Given the description of an element on the screen output the (x, y) to click on. 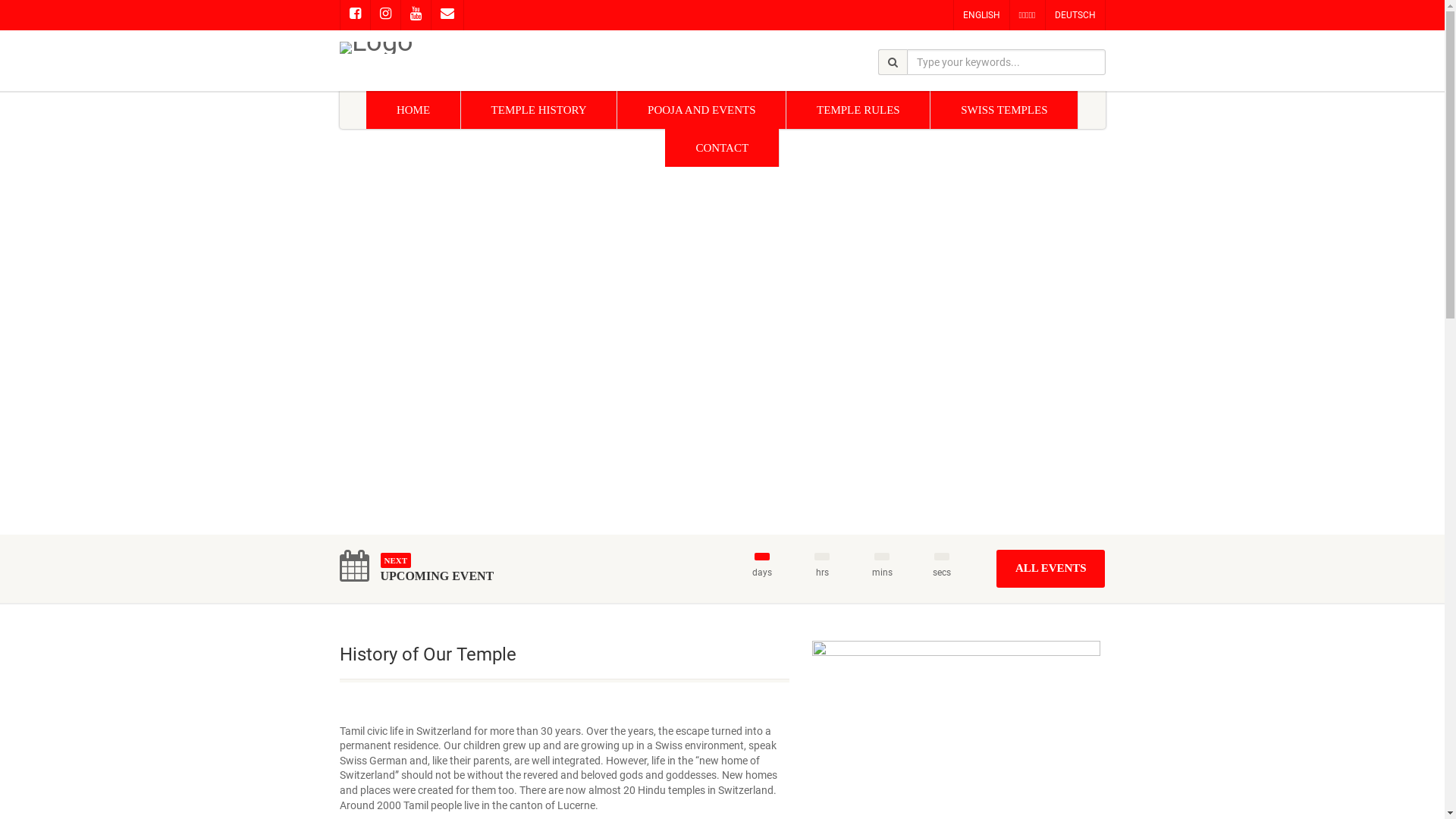
TEMPLE RULES Element type: text (858, 109)
DEUTSCH Element type: text (1074, 15)
ALL EVENTS Element type: text (1050, 568)
ENGLISH Element type: text (981, 15)
SWISS TEMPLES Element type: text (1004, 109)
HOME Element type: text (413, 109)
TEMPLE HISTORY Element type: text (539, 109)
Logo Element type: hover (459, 47)
CONTACT Element type: text (721, 147)
POOJA AND EVENTS Element type: text (701, 109)
